Given the description of an element on the screen output the (x, y) to click on. 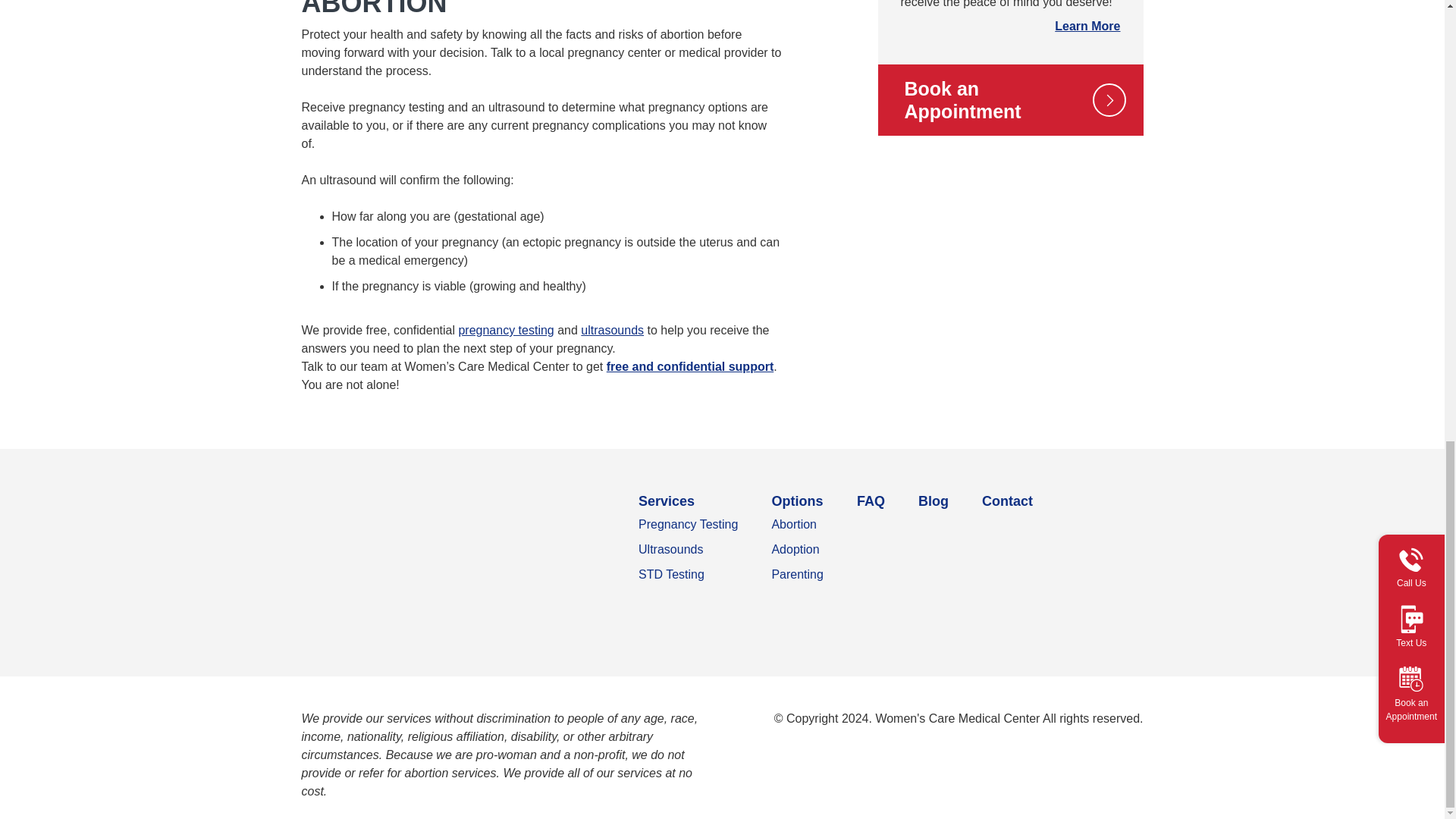
ultrasounds (611, 329)
free and confidential support (690, 366)
Learn More (1086, 25)
pregnancy testing (505, 329)
